Given the description of an element on the screen output the (x, y) to click on. 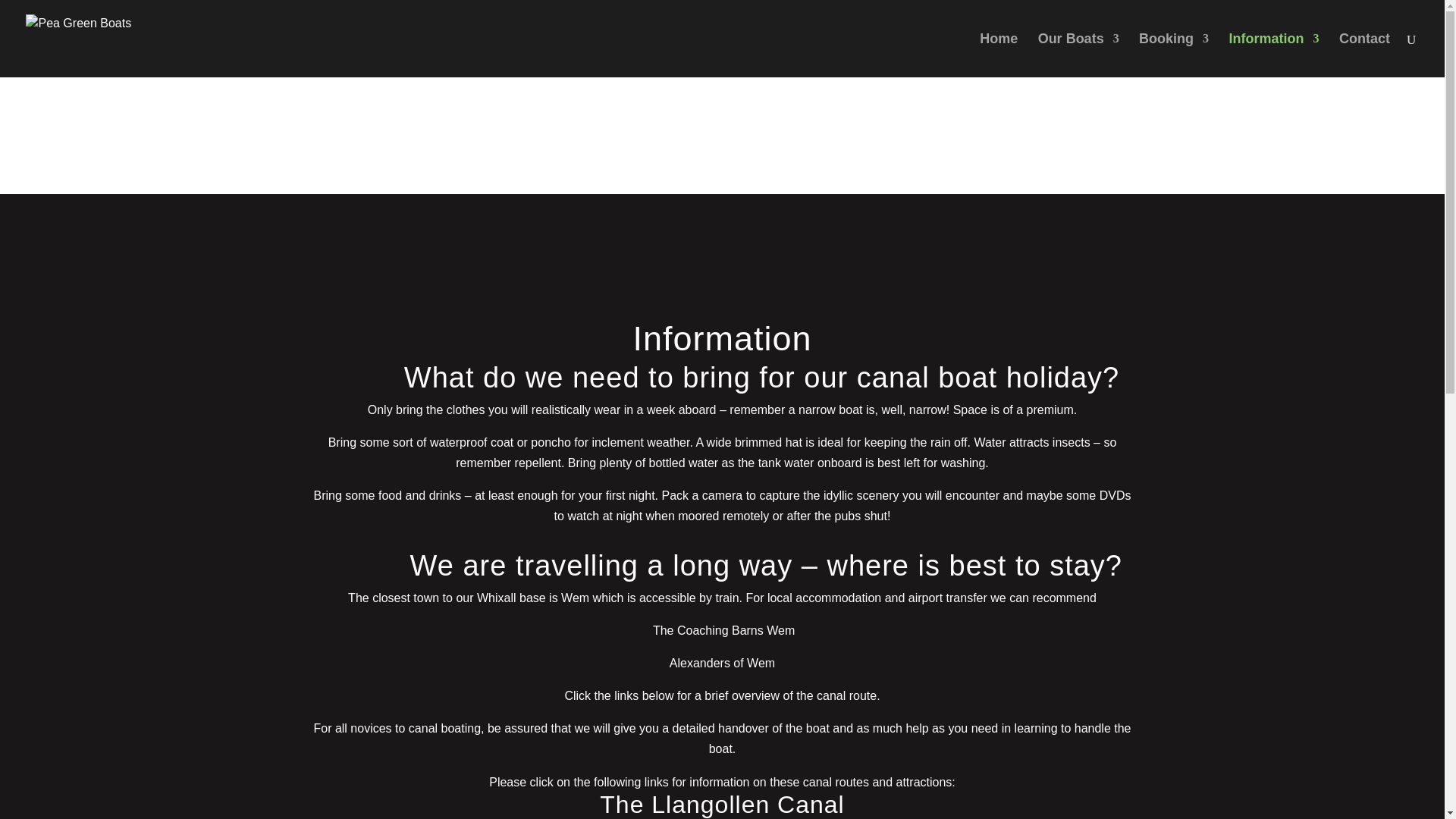
The Coaching Barns Wem (723, 630)
Alexanders of Wem (721, 662)
Contact (1364, 54)
Information (1273, 54)
Our Boats (1078, 54)
The Llangollen Canal (721, 804)
The Montgomery Canal (722, 816)
Booking (1173, 54)
